Given the description of an element on the screen output the (x, y) to click on. 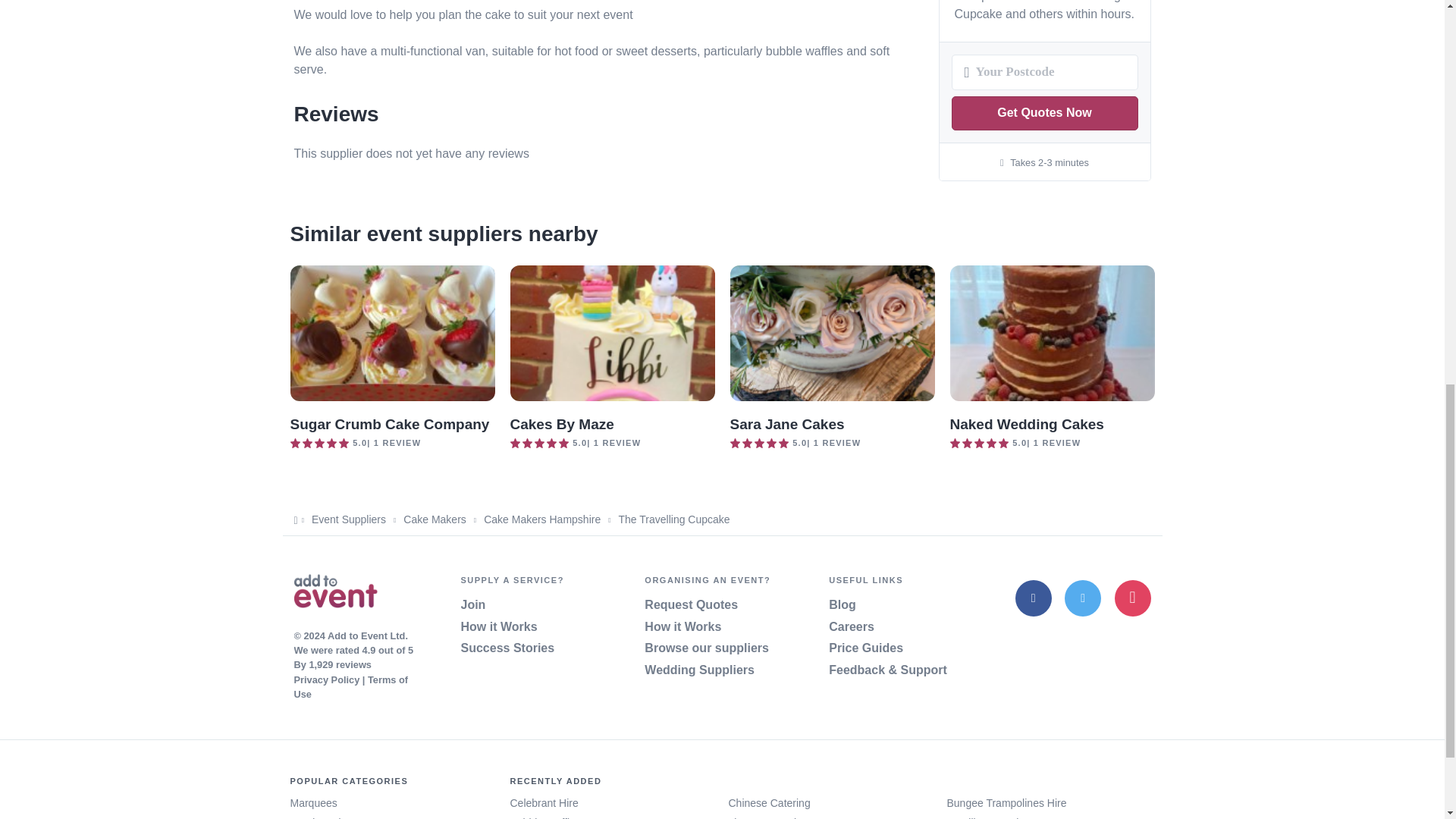
Sara Jane Cakes (786, 424)
Sugar Crumb Cake Company (389, 424)
Home (335, 593)
Cakes By Maze (560, 424)
